Given the description of an element on the screen output the (x, y) to click on. 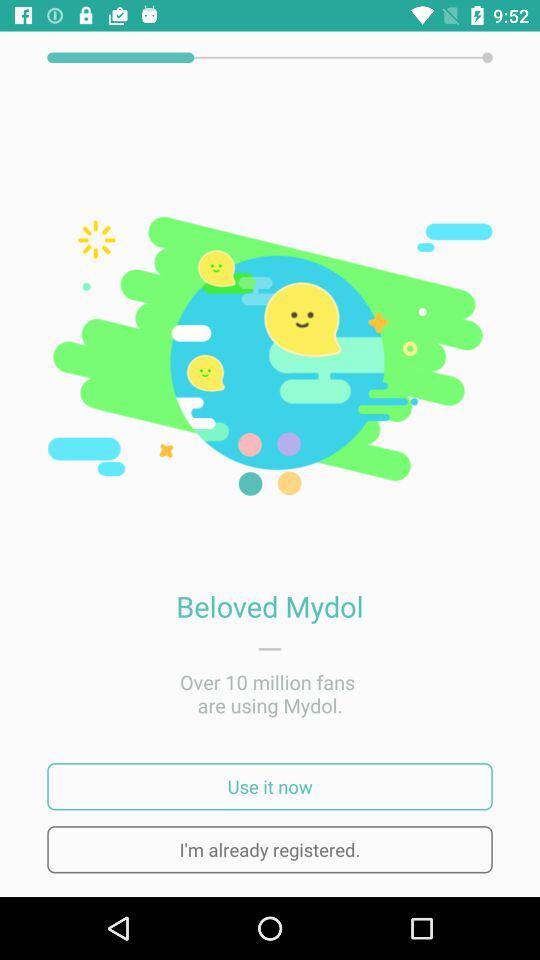
press the item below over 10 million icon (269, 786)
